Given the description of an element on the screen output the (x, y) to click on. 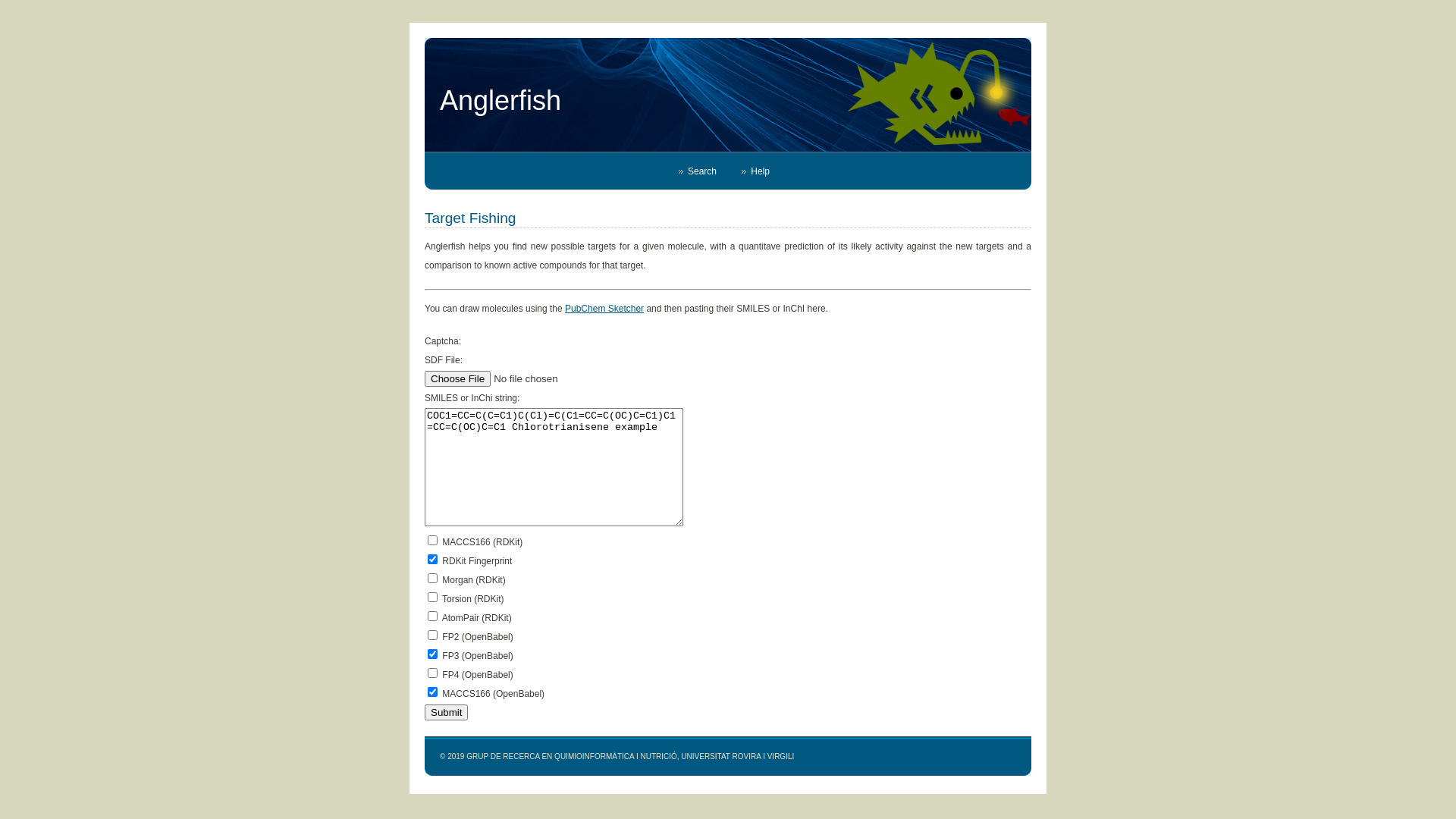
Submit Element type: text (445, 712)
Help Element type: text (766, 169)
Search Element type: text (708, 169)
PubChem Sketcher Element type: text (603, 308)
